Given the description of an element on the screen output the (x, y) to click on. 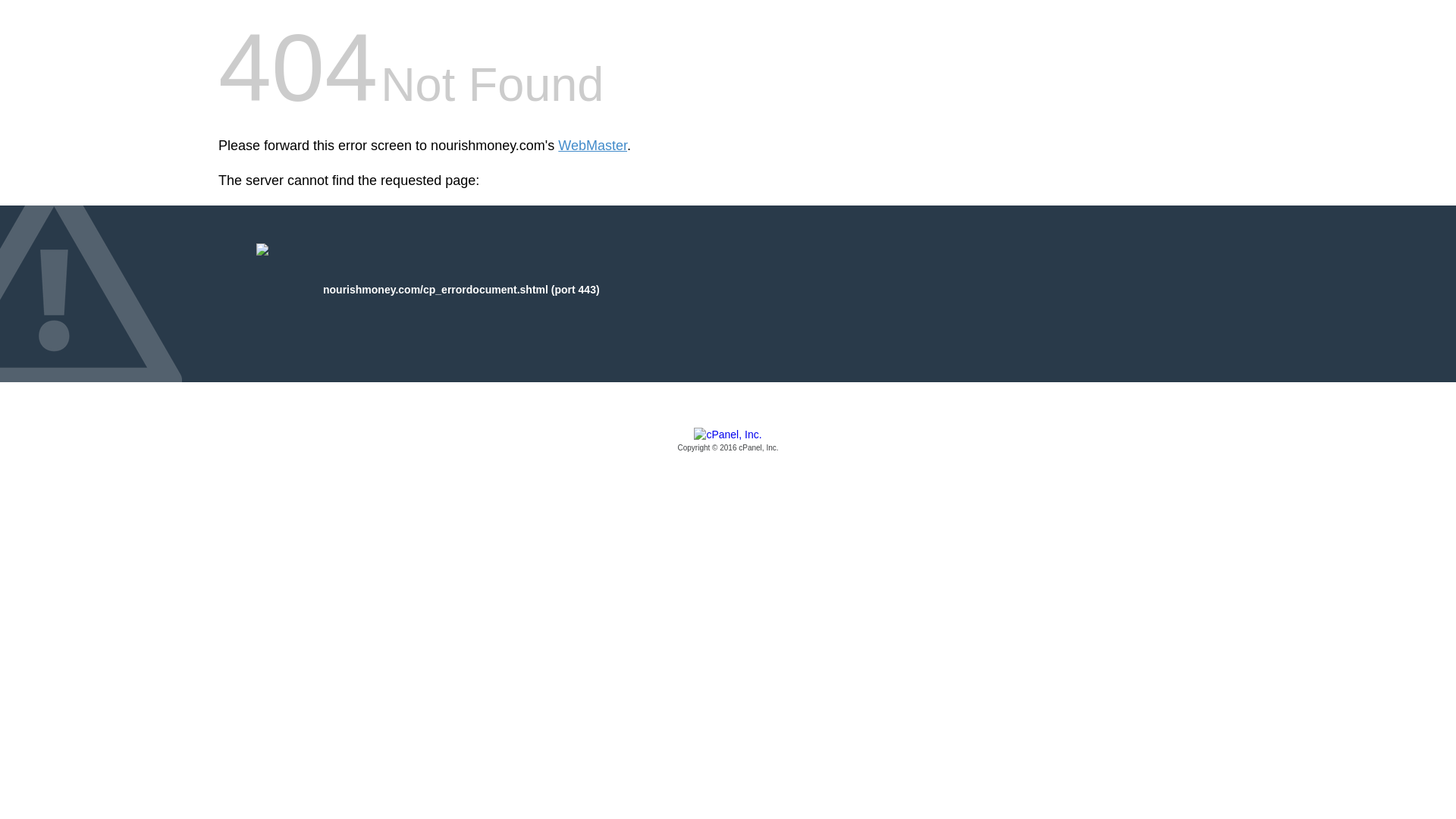
cPanel, Inc. (727, 440)
WebMaster (592, 145)
